Given the description of an element on the screen output the (x, y) to click on. 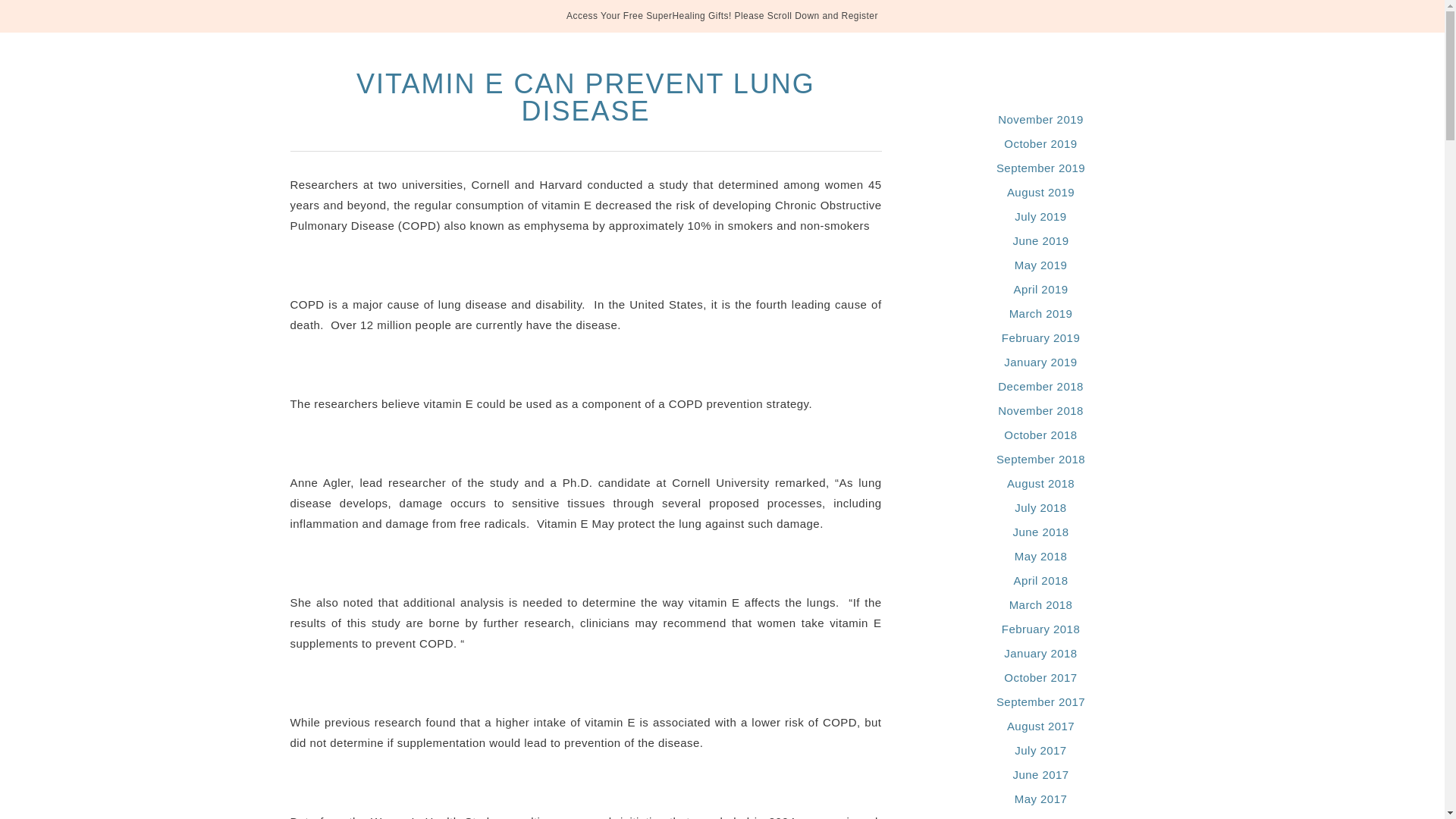
VITAMIN E CAN PREVENT LUNG DISEASE (585, 96)
January 2019 (1040, 361)
July 2018 (1039, 507)
September 2017 (1039, 701)
June 2017 (1039, 774)
June 2019 (1039, 240)
July 2019 (1039, 215)
September 2019 (1039, 167)
September 2018 (1039, 459)
Vitamin E Can Prevent Lung Disease (585, 96)
